Given the description of an element on the screen output the (x, y) to click on. 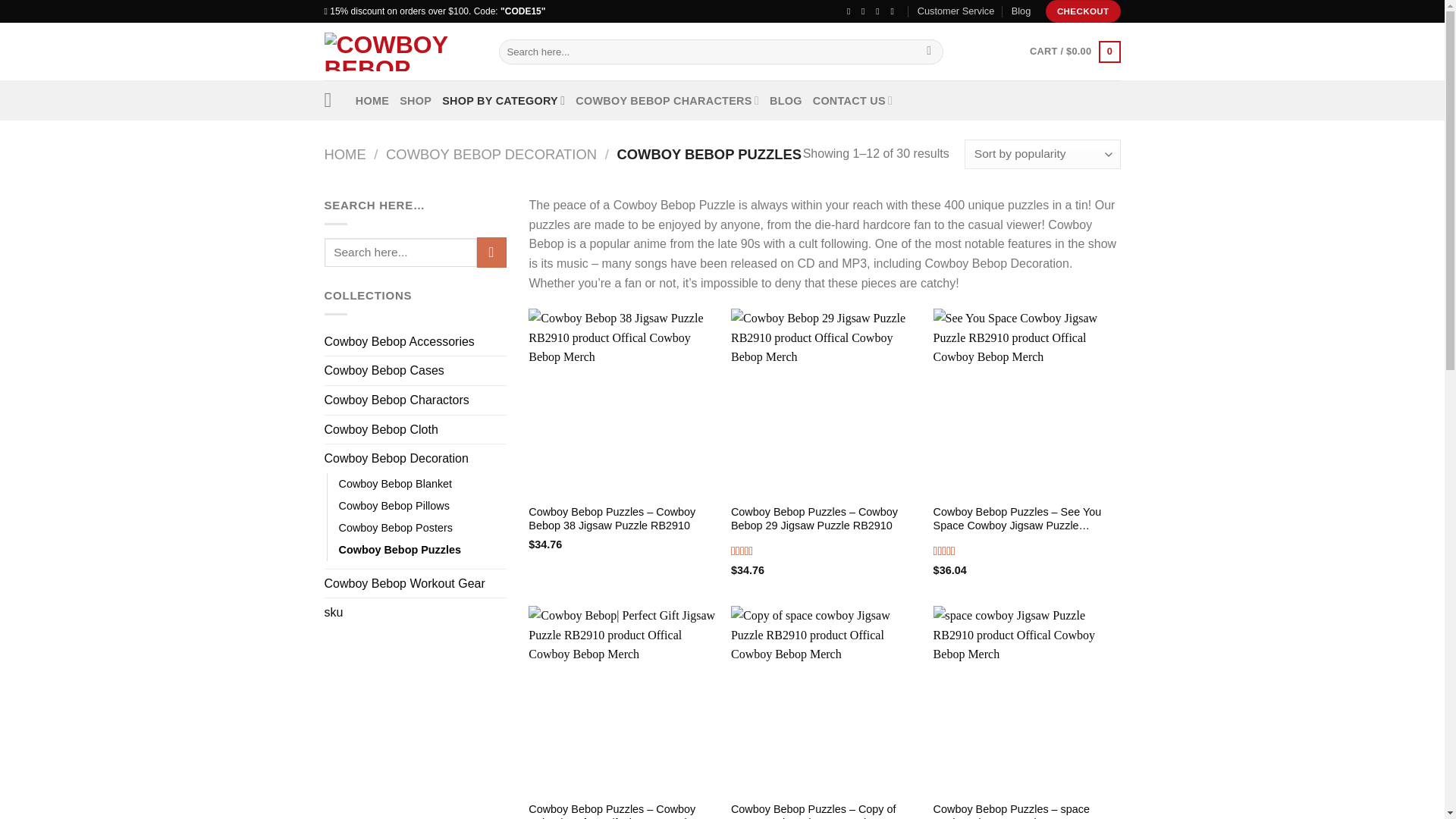
SHOP BY CATEGORY (503, 100)
SHOP (414, 100)
HOME (371, 100)
Cart (1074, 52)
Search (929, 52)
CHECKOUT (1083, 11)
Customer Service (955, 11)
